Given the description of an element on the screen output the (x, y) to click on. 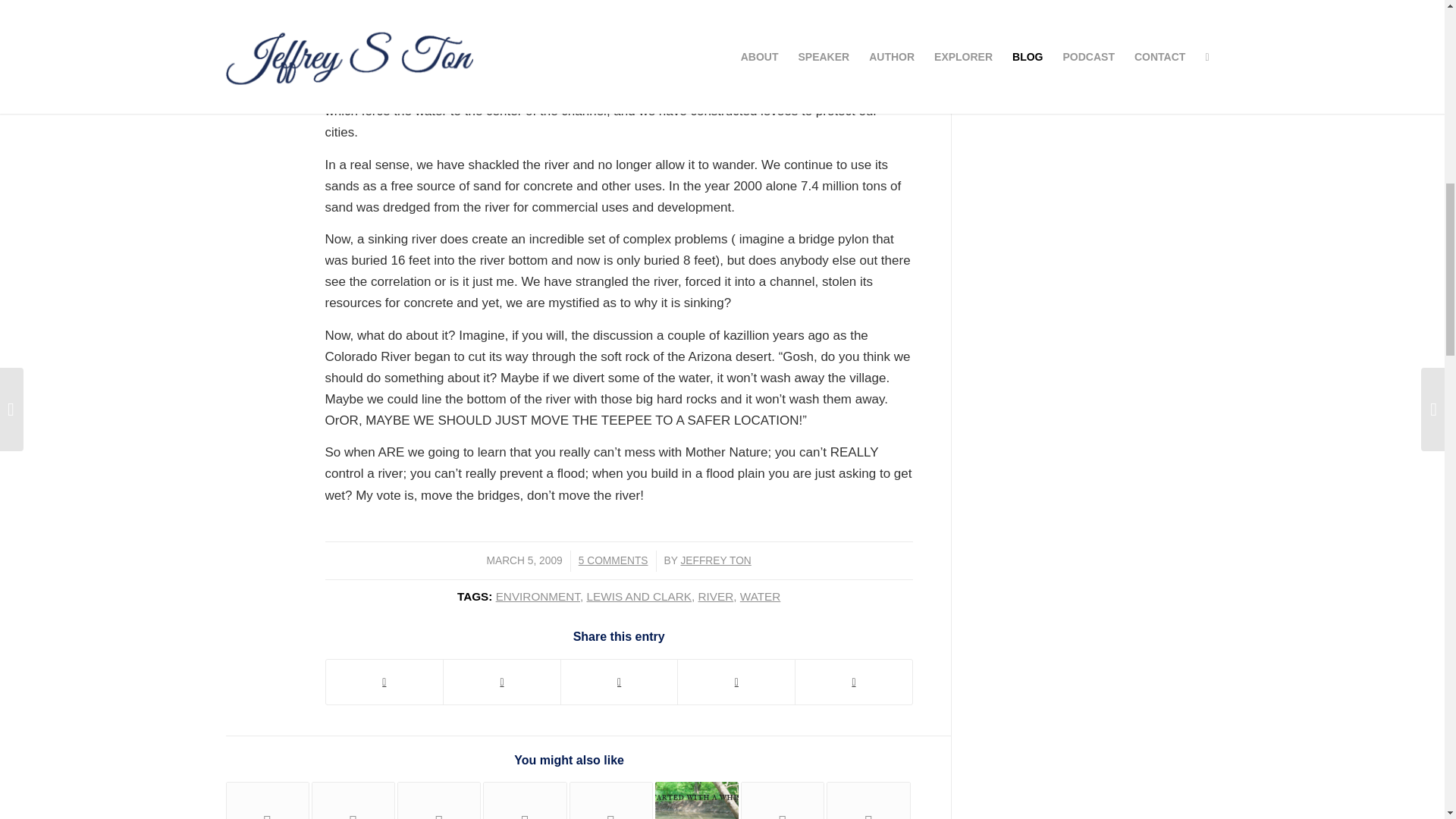
We have met the enemy and he is us! -Pogo (352, 800)
ENVIRONMENT (537, 595)
RIVER (715, 595)
WATER (759, 595)
5 COMMENTS (612, 560)
One bourbon, One scotch, One beer (438, 800)
Posts by Jeffrey Ton (715, 560)
LEWIS AND CLARK (638, 595)
JEFFREY TON (715, 560)
